Given the description of an element on the screen output the (x, y) to click on. 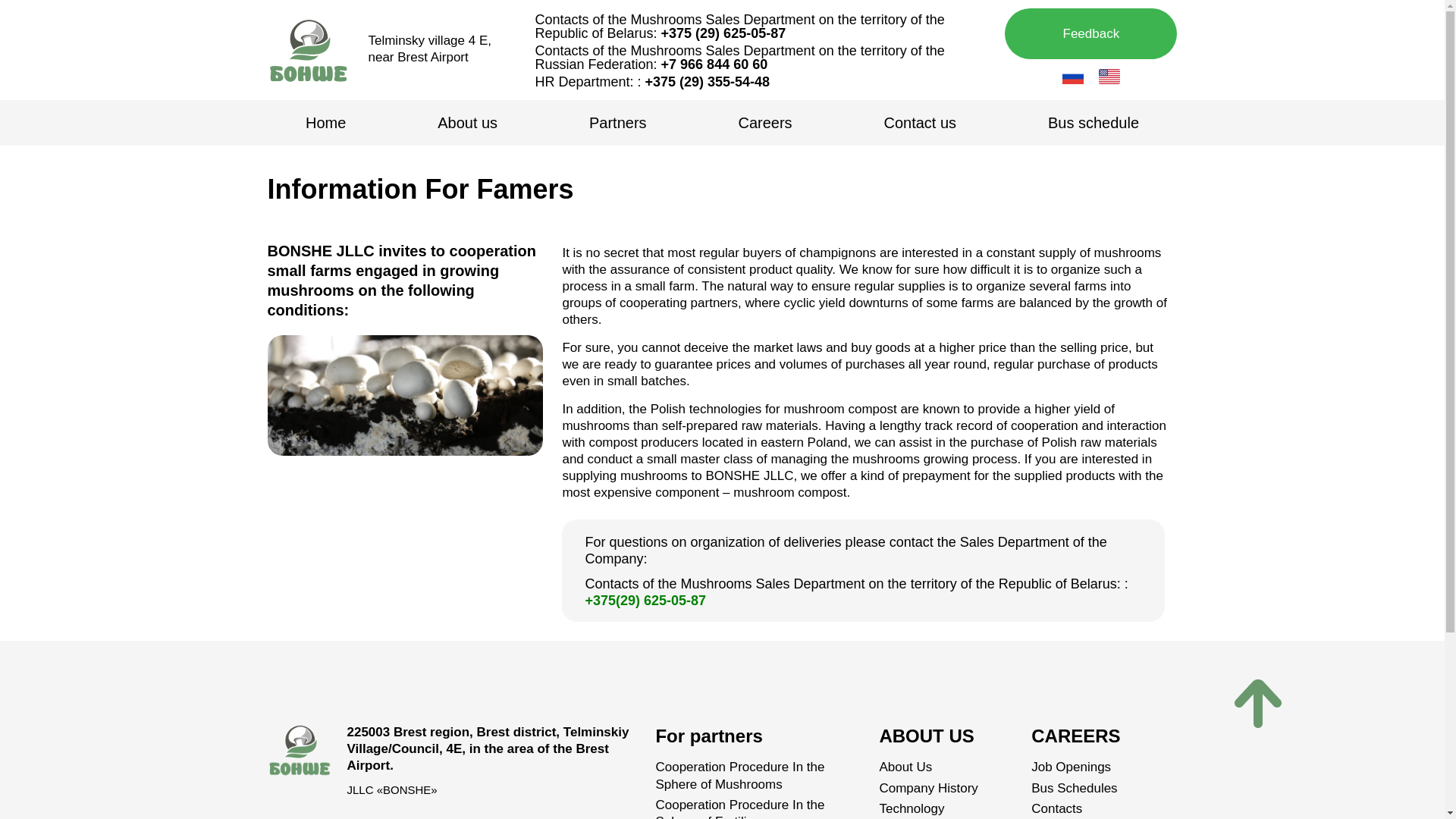
Feedback (1090, 33)
Home (325, 122)
About us (467, 122)
Bus schedule (1094, 122)
Partners (618, 122)
Careers (765, 122)
Contact us (919, 122)
